Given the description of an element on the screen output the (x, y) to click on. 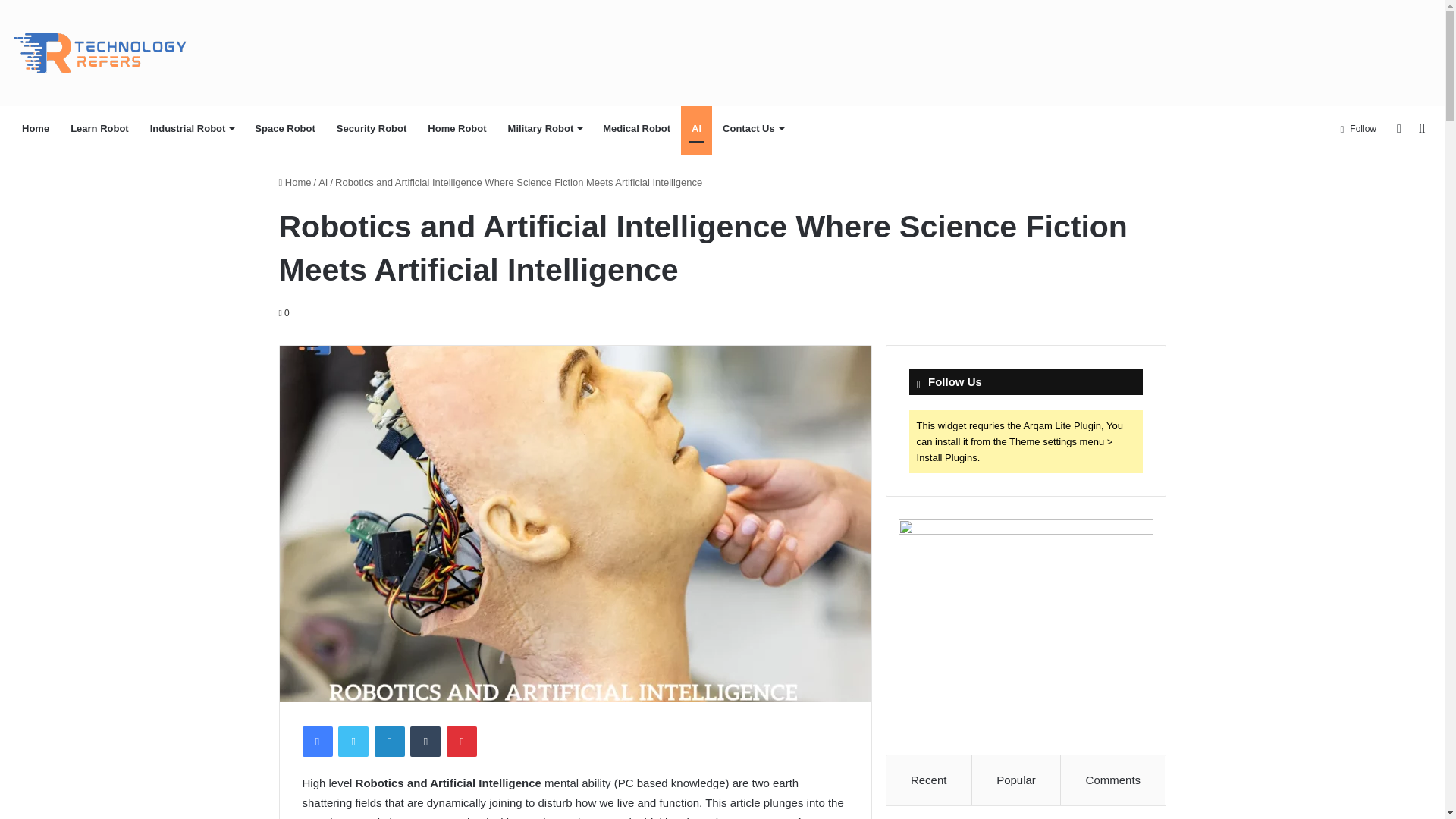
Military Robot (544, 128)
Home Robot (456, 128)
Security Robot (371, 128)
Contact Us (752, 128)
Pinterest (461, 741)
Learn Robot (99, 128)
Industrial Robot (191, 128)
TECHNOLOGY REFERS (105, 52)
Facebook (316, 741)
Tumblr (425, 741)
Facebook (316, 741)
Space Robot (284, 128)
LinkedIn (389, 741)
Follow (1358, 128)
Home (35, 128)
